Given the description of an element on the screen output the (x, y) to click on. 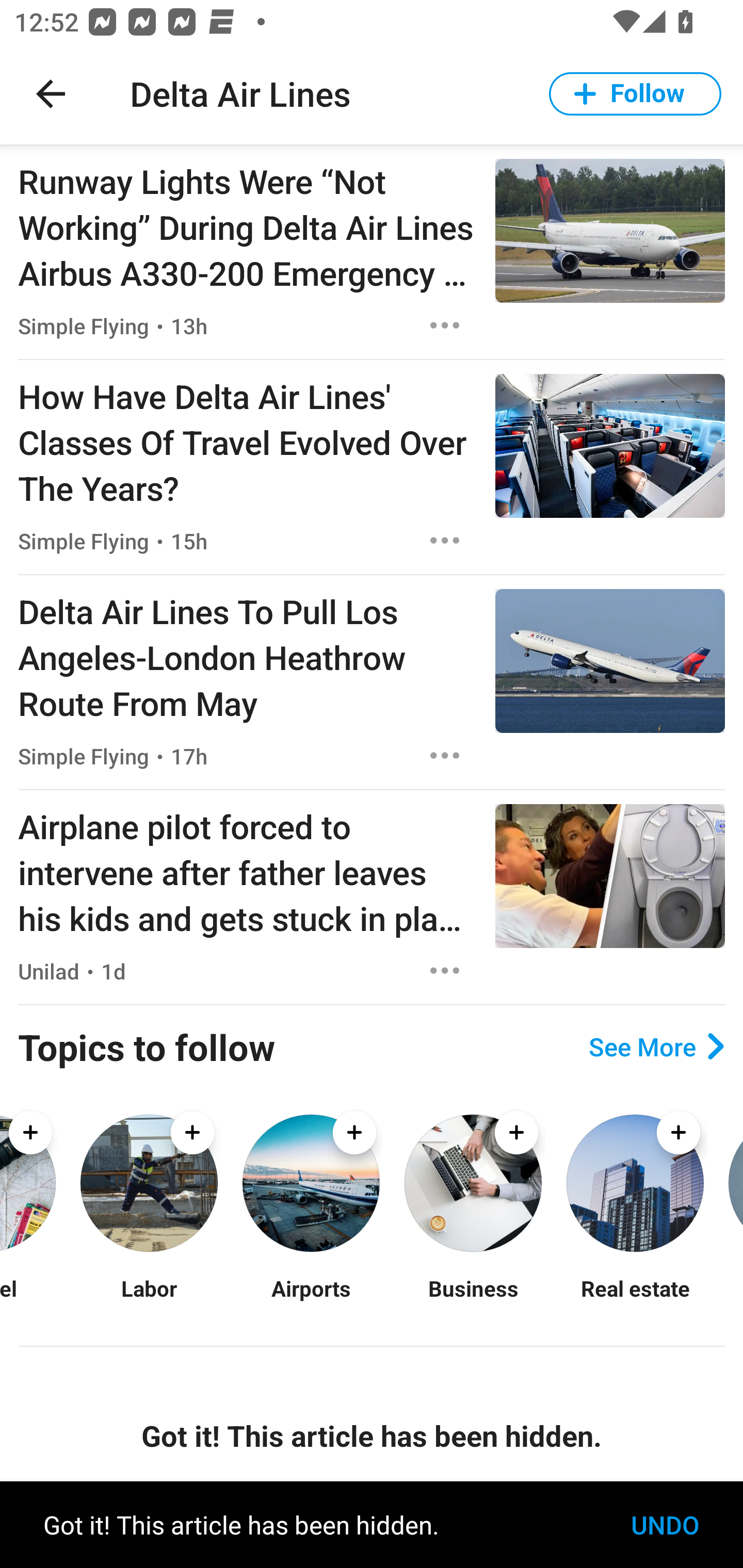
Navigate up (50, 93)
Follow (635, 94)
Options (444, 325)
Options (444, 540)
Options (444, 755)
Options (444, 970)
See More (656, 1046)
Labor (148, 1300)
Airports (311, 1300)
Business (473, 1300)
Real estate (635, 1300)
UNDO (665, 1524)
